Given the description of an element on the screen output the (x, y) to click on. 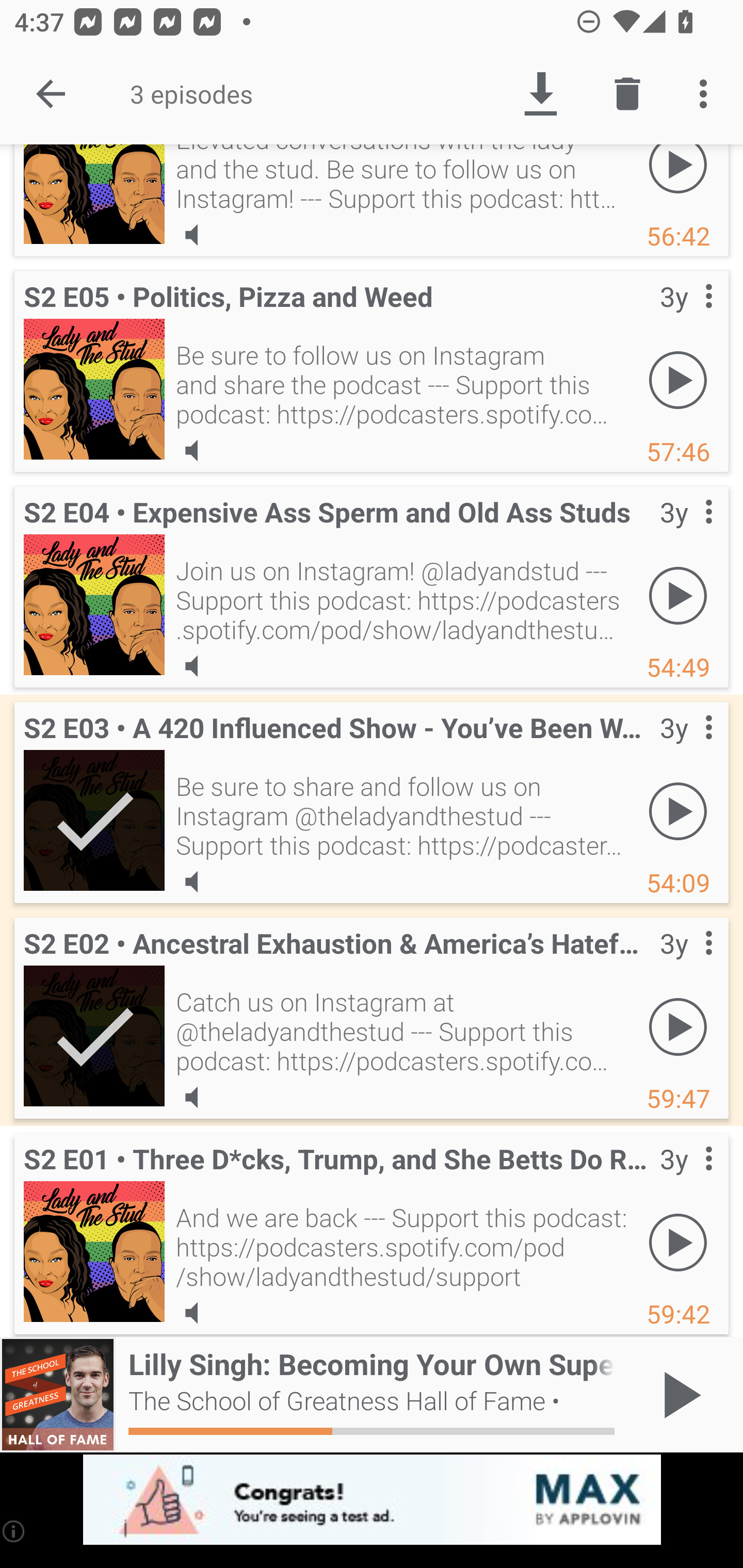
Done (50, 93)
Download (540, 93)
Delete episode (626, 93)
More options (706, 93)
Play (677, 179)
Contextual menu (685, 316)
Politics, Pizza and Weed (93, 388)
Play (677, 380)
Contextual menu (685, 532)
Expensive Ass Sperm and Old Ass Studs (93, 604)
Play (677, 595)
Contextual menu (685, 747)
A 420 Influenced Show - You’ve Been Warned (93, 819)
Play (677, 811)
Contextual menu (685, 963)
Play (677, 1026)
Contextual menu (685, 1178)
Three D*cks, Trump, and She Betts Do Right! (93, 1250)
Play (677, 1242)
Play / Pause (677, 1394)
app-monetization (371, 1500)
(i) (14, 1531)
